Given the description of an element on the screen output the (x, y) to click on. 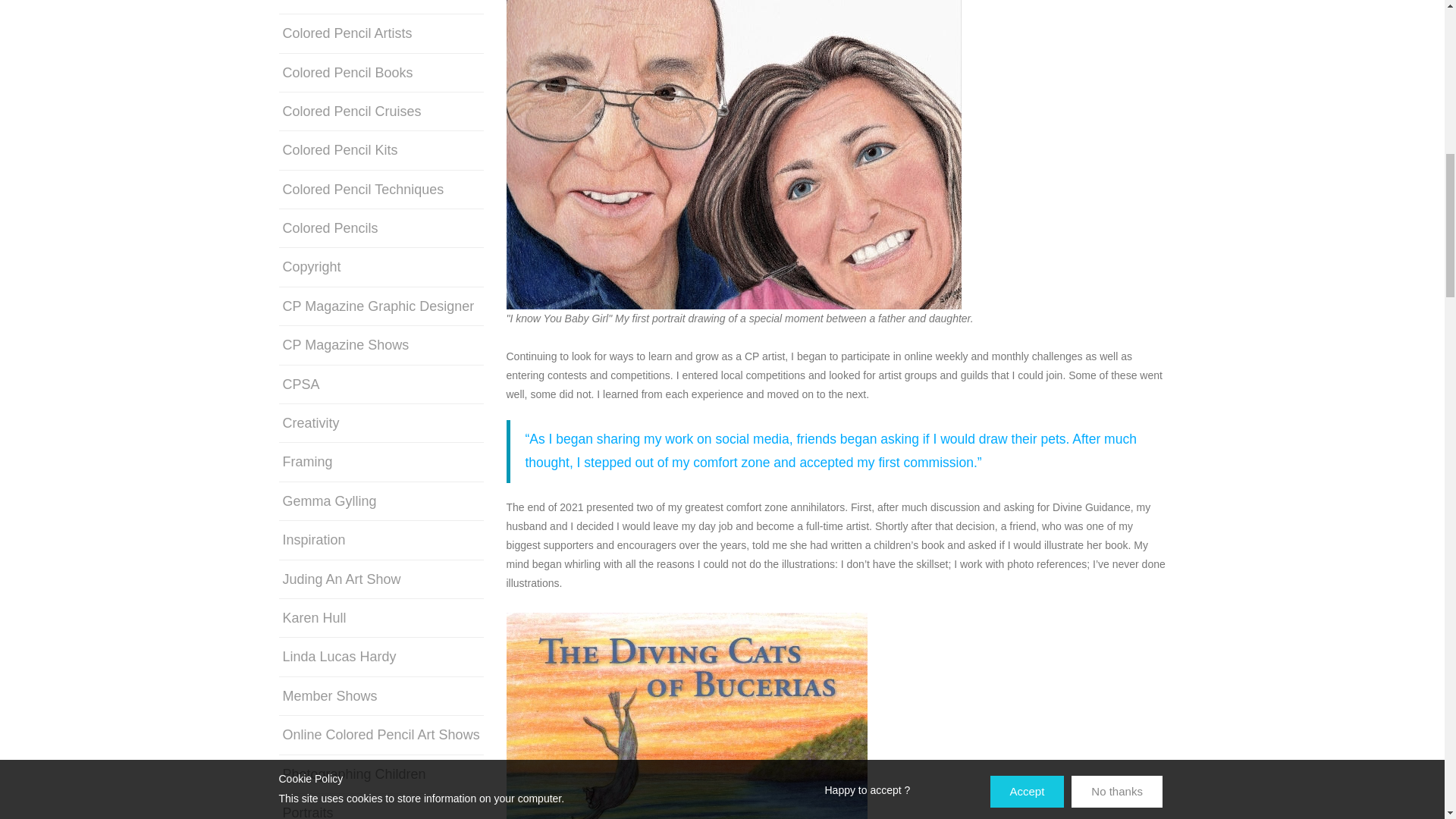
Narrow search to articles also having tag colored pencil art (335, 3)
